Given the description of an element on the screen output the (x, y) to click on. 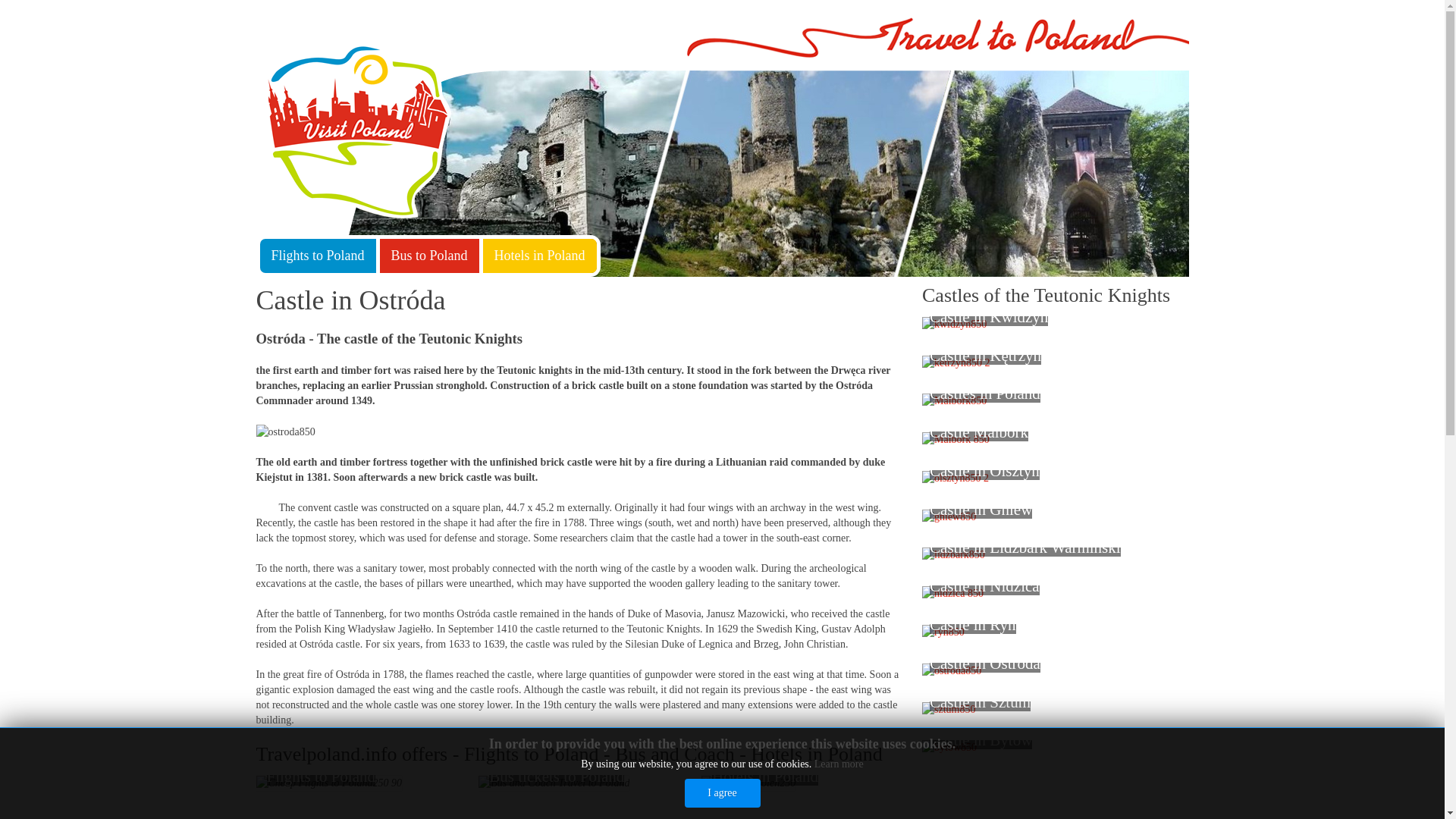
Castle in Sztum (948, 709)
Castle in Olsztyn (954, 478)
Castles in Poland (954, 400)
Castle in Nidzica (952, 593)
Flights to Poland (317, 255)
Bus tickets to Poland (553, 783)
Castle in Ryn (942, 631)
Castle in Kwidzyn (954, 324)
Flights to Poland (329, 783)
Castle in Gniew (948, 516)
Hotels in Poland (747, 783)
Castle Malbork (955, 439)
